Given the description of an element on the screen output the (x, y) to click on. 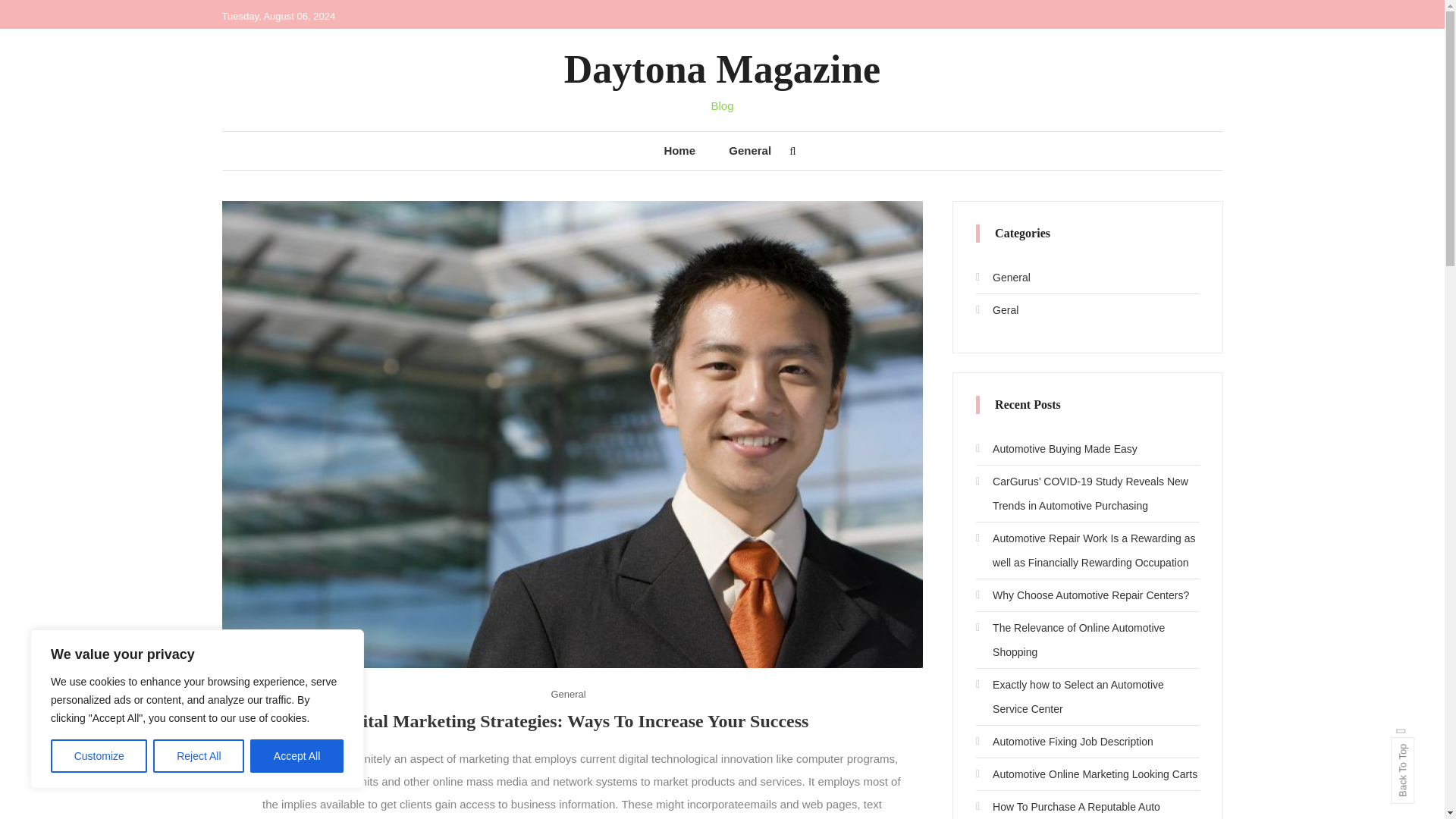
General (1002, 277)
Geral (996, 310)
General (749, 150)
General (567, 693)
Reject All (198, 756)
Home (678, 150)
Daytona Magazine (722, 68)
Accept All (296, 756)
Automotive Buying Made Easy (1056, 448)
Customize (98, 756)
